Given the description of an element on the screen output the (x, y) to click on. 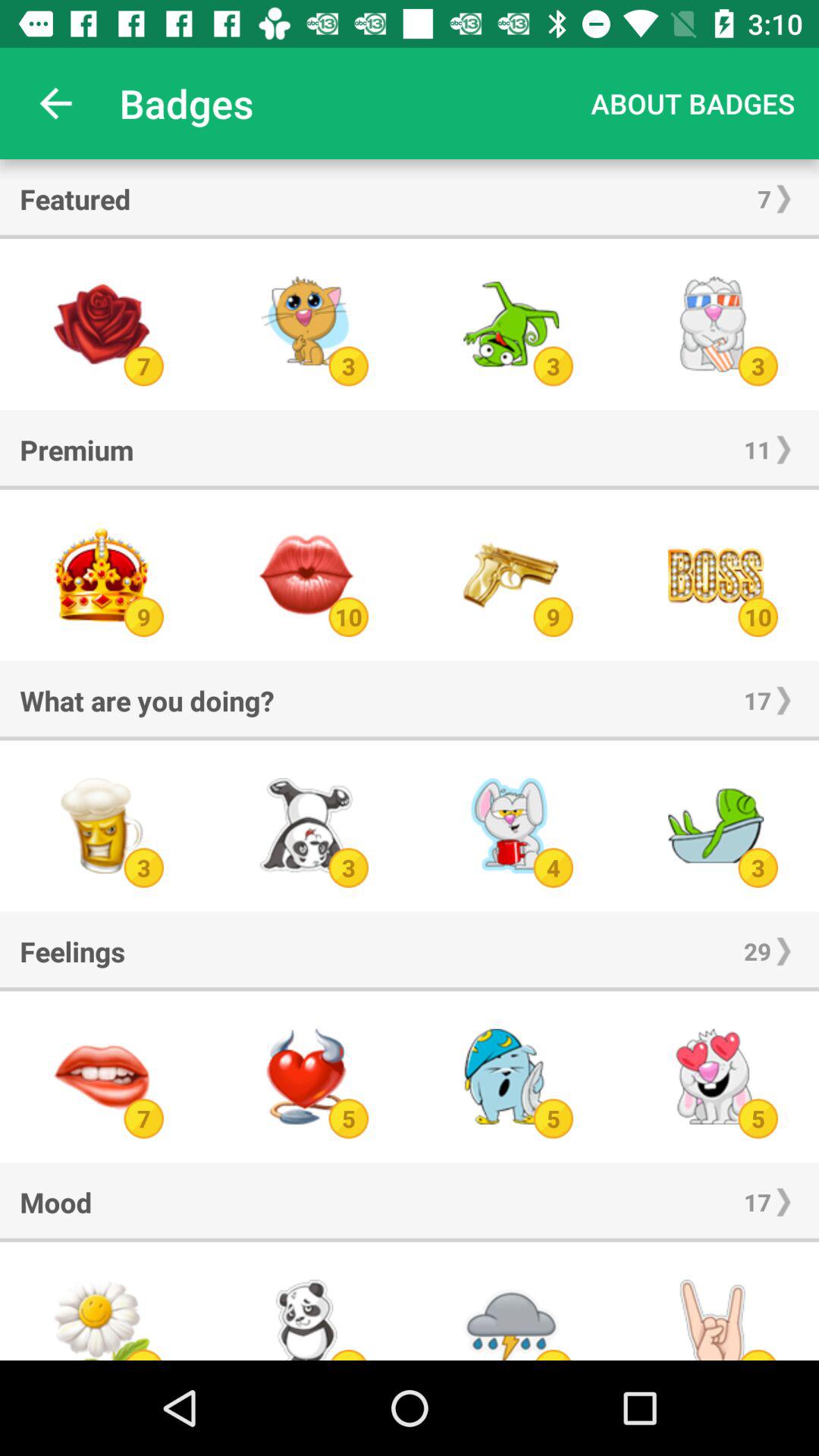
tap item next to badges app (55, 103)
